Given the description of an element on the screen output the (x, y) to click on. 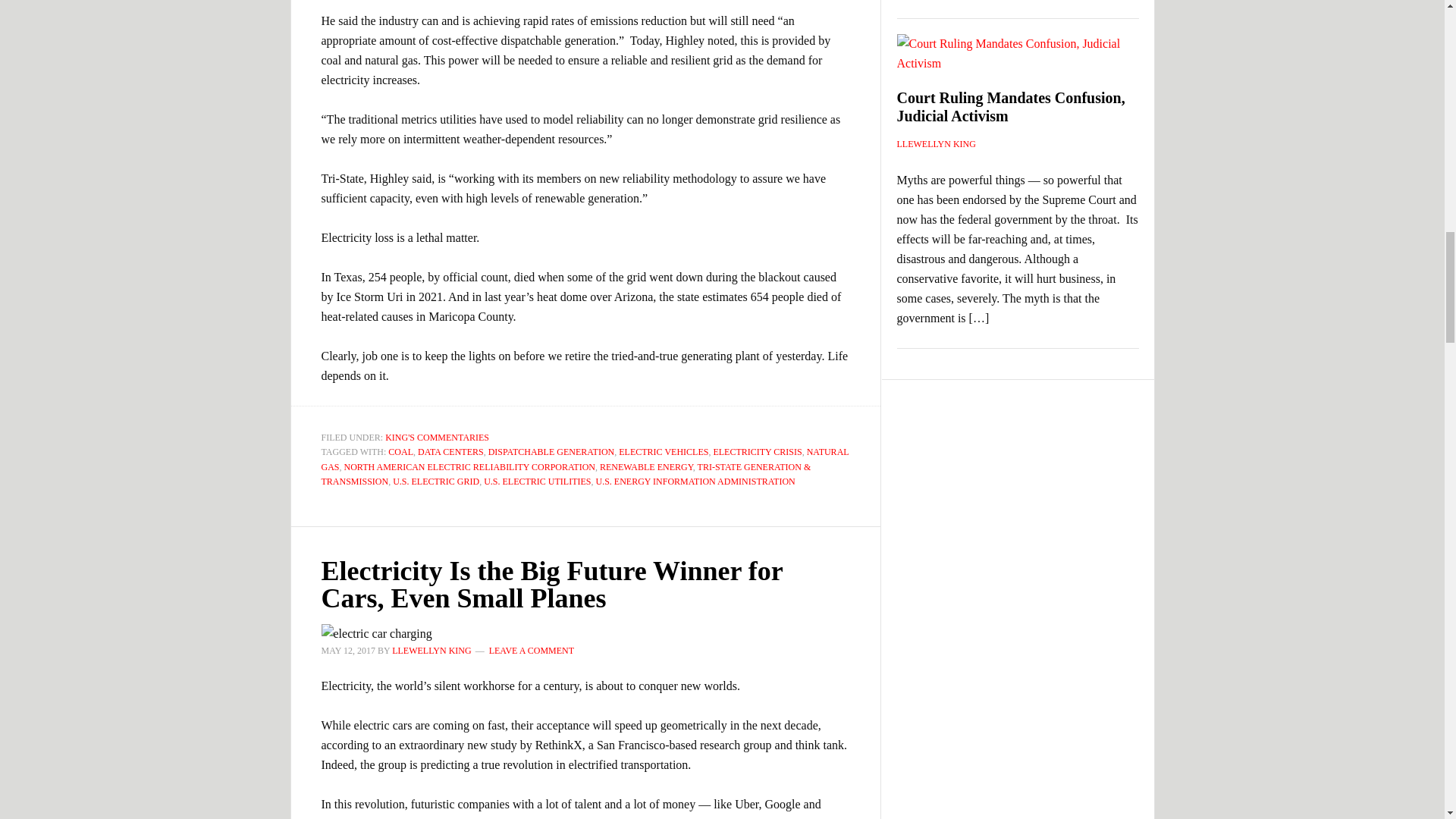
U.S. ELECTRIC GRID (436, 480)
NORTH AMERICAN ELECTRIC RELIABILITY CORPORATION (469, 466)
RENEWABLE ENERGY (646, 466)
NATURAL GAS (584, 459)
KING'S COMMENTARIES (437, 437)
LLEWELLYN KING (430, 649)
LEAVE A COMMENT (531, 649)
ELECTRIC VEHICLES (662, 451)
U.S. ENERGY INFORMATION ADMINISTRATION (694, 480)
COAL (400, 451)
ELECTRICITY CRISIS (757, 451)
U.S. ELECTRIC UTILITIES (537, 480)
DATA CENTERS (450, 451)
DISPATCHABLE GENERATION (550, 451)
